Given the description of an element on the screen output the (x, y) to click on. 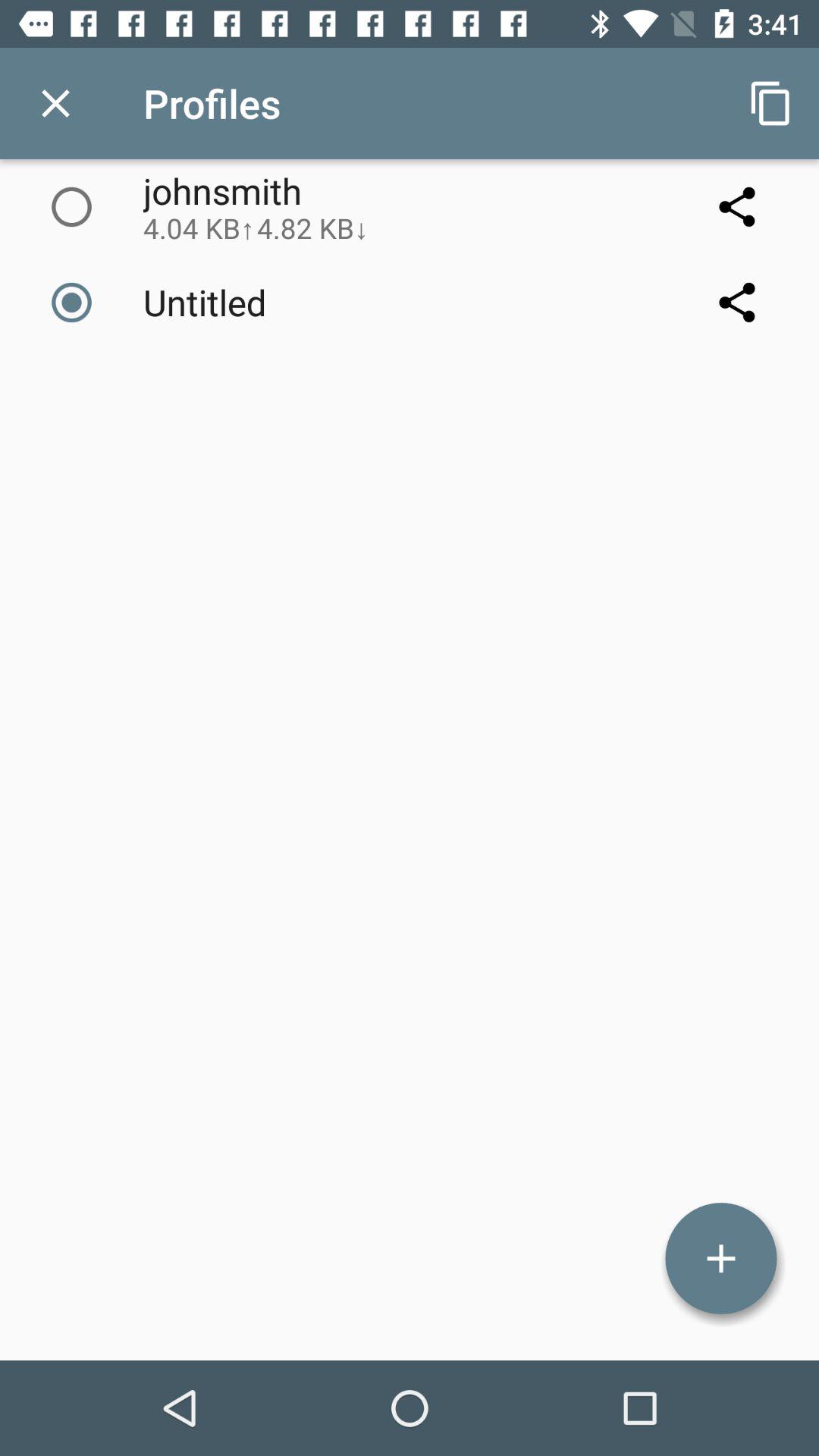
close page (55, 103)
